Given the description of an element on the screen output the (x, y) to click on. 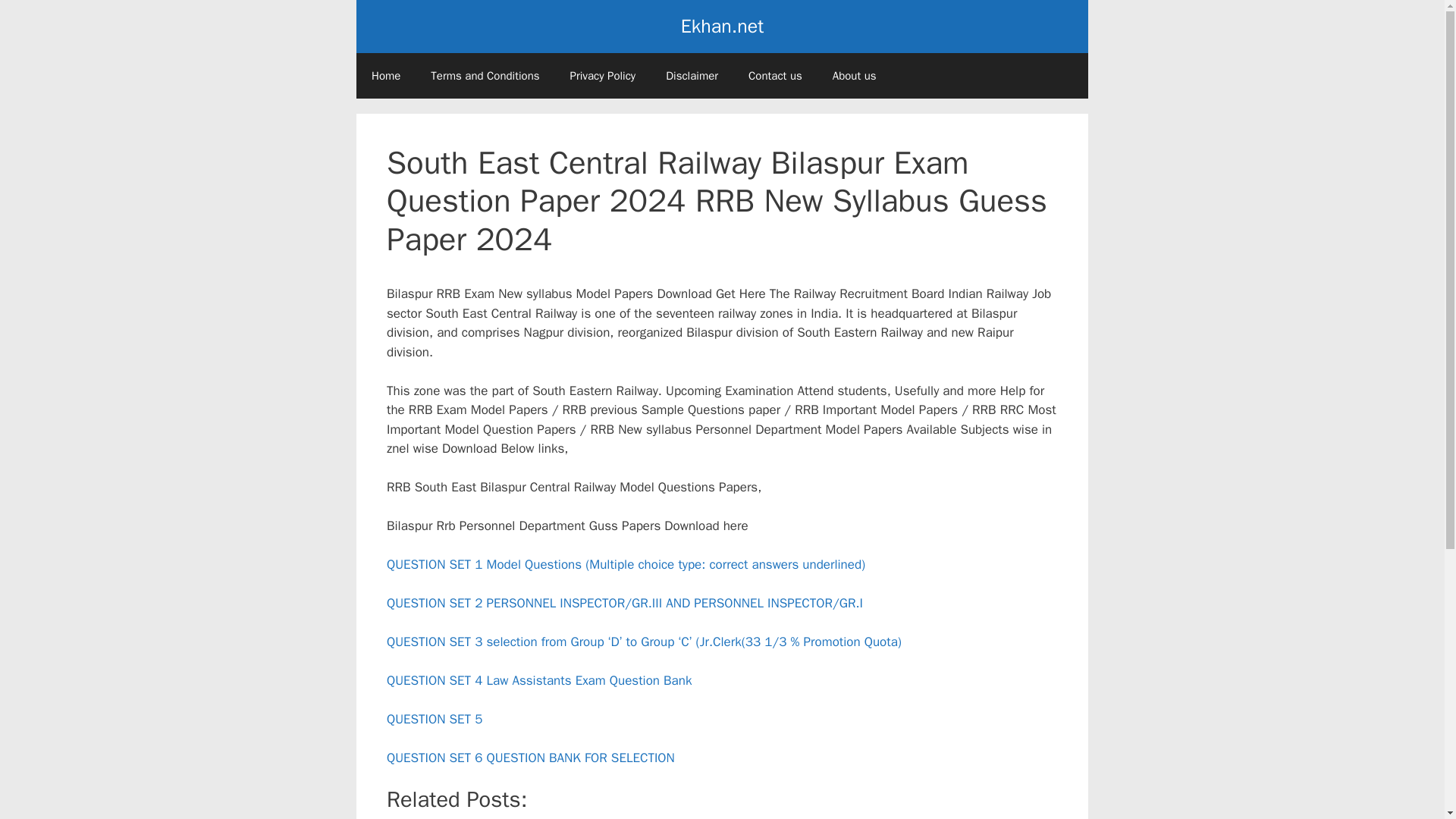
Ekhan.net (721, 25)
About us (853, 75)
QUESTION SET 6 QUESTION BANK FOR SELECTION (531, 757)
Home (385, 75)
Disclaimer (691, 75)
Privacy Policy (602, 75)
QUESTION SET 4 Law Assistants Exam Question Bank (539, 680)
Terms and Conditions (484, 75)
Contact us (774, 75)
QUESTION SET 5 (434, 719)
